Given the description of an element on the screen output the (x, y) to click on. 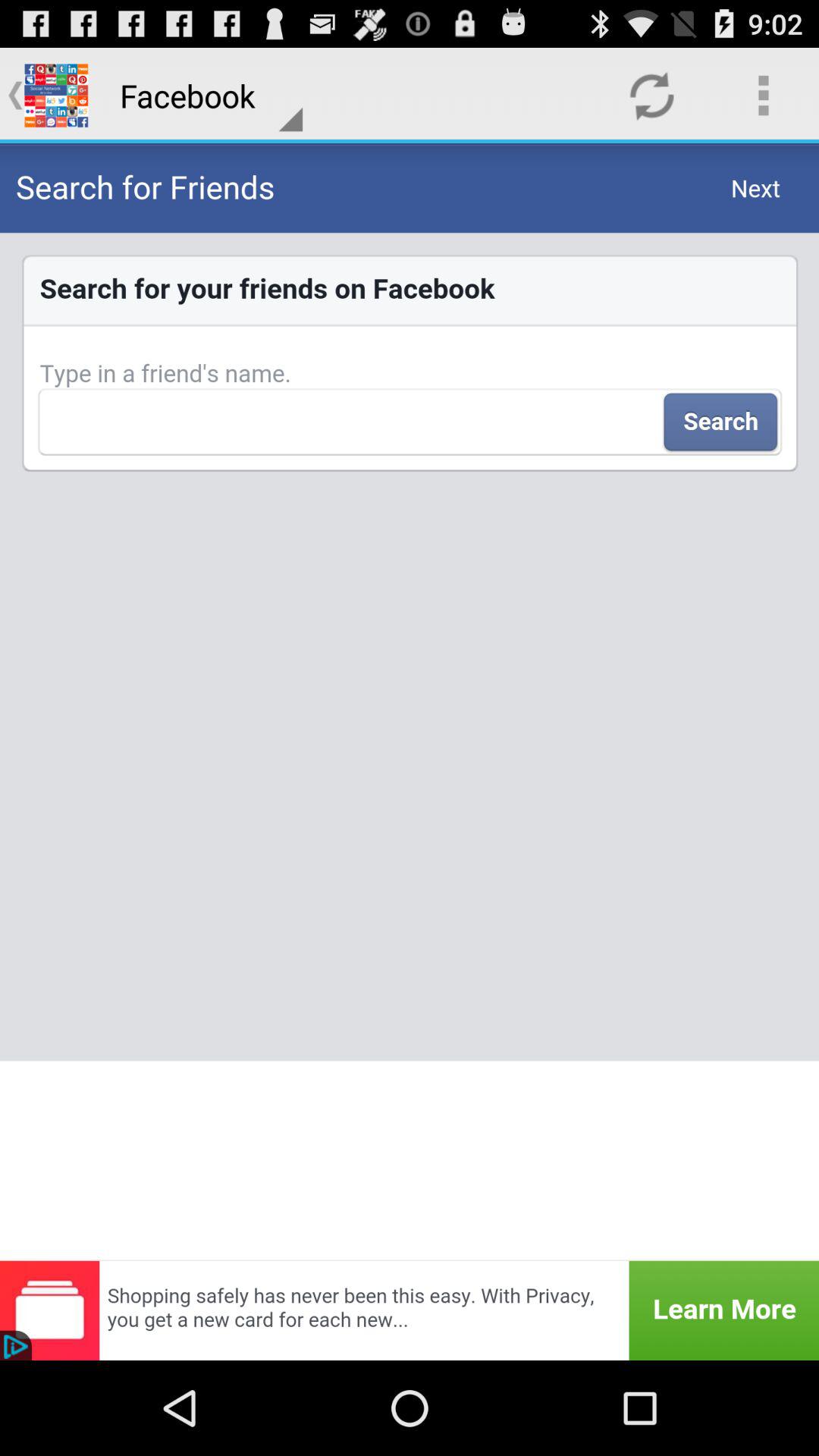
press item at the center (409, 701)
